Given the description of an element on the screen output the (x, y) to click on. 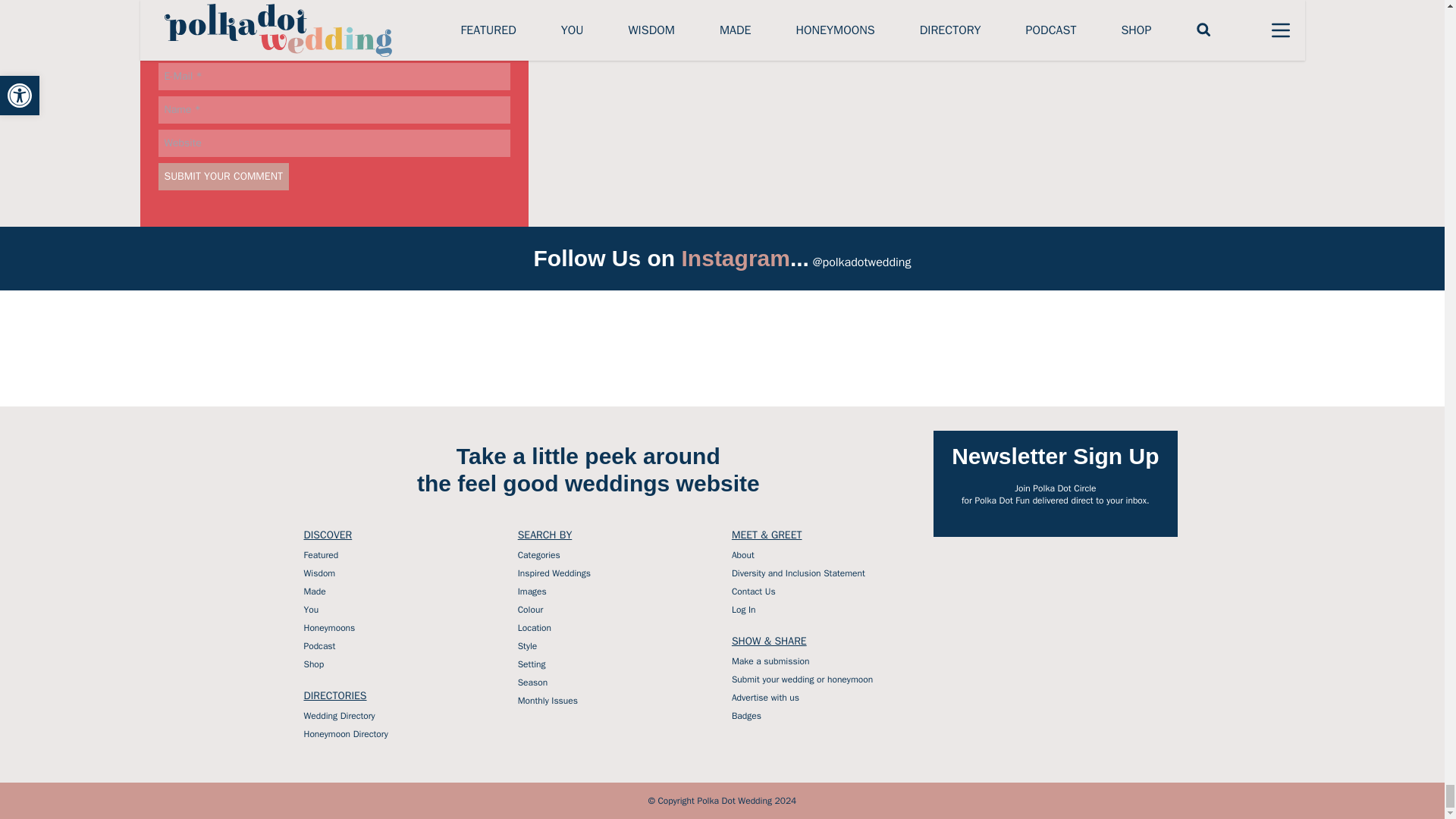
SUBMIT YOUR COMMENT (222, 176)
